Given the description of an element on the screen output the (x, y) to click on. 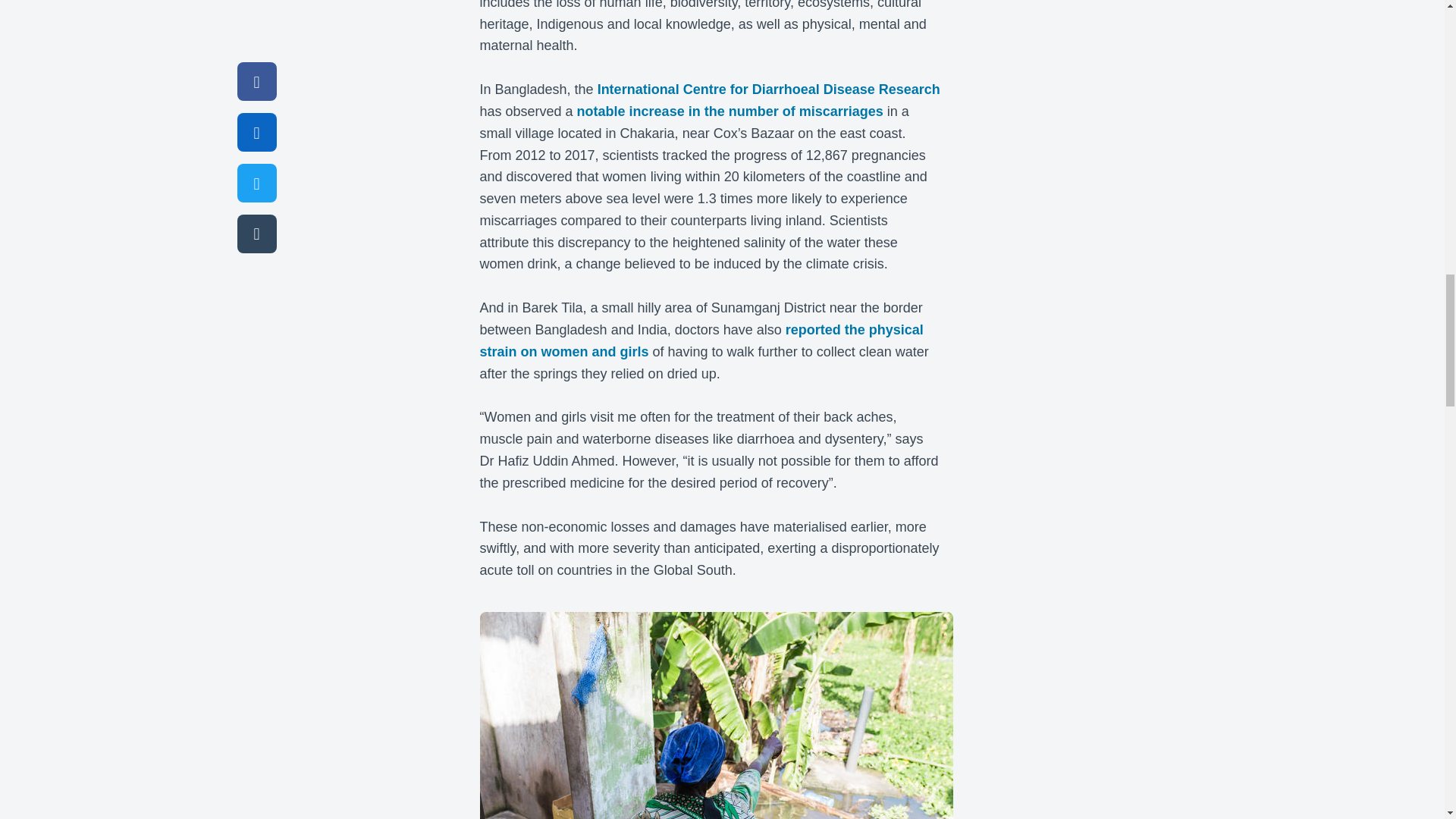
reported the physical strain on women and girls (701, 340)
notable increase in the number of miscarriages (729, 111)
International Centre for Diarrhoeal Disease Research (768, 89)
